Given the description of an element on the screen output the (x, y) to click on. 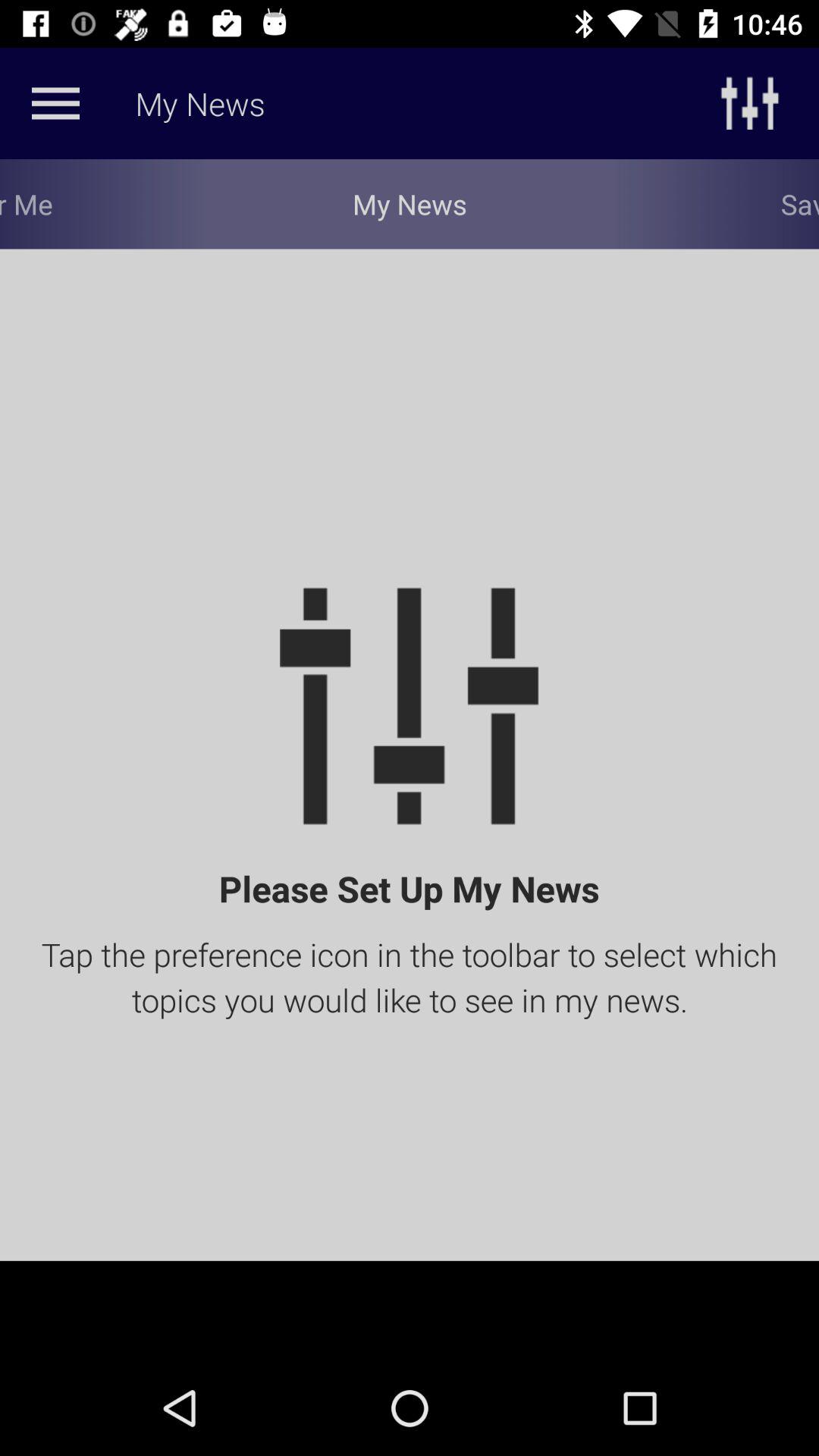
go to costumes (55, 103)
